Given the description of an element on the screen output the (x, y) to click on. 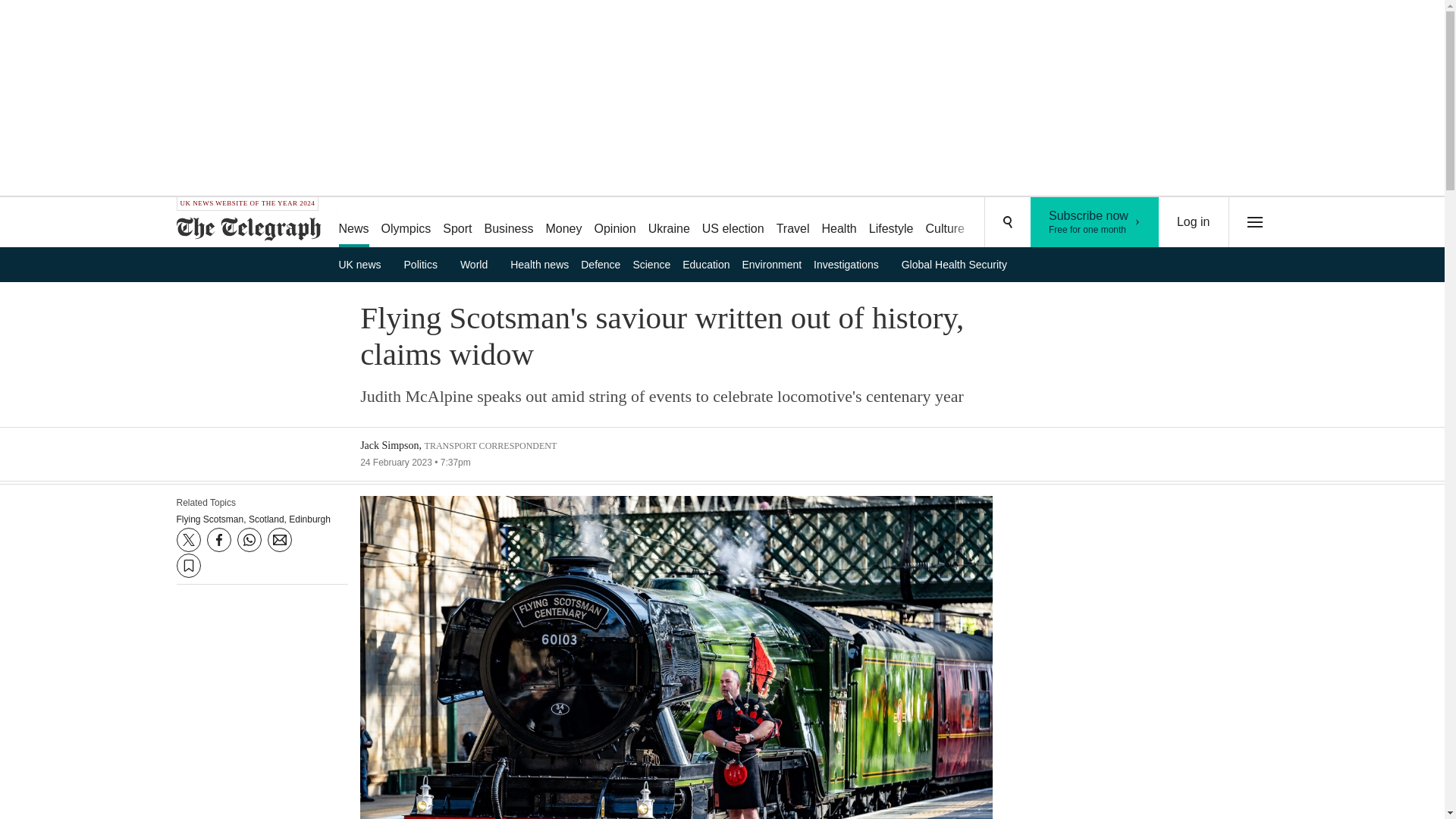
Politics (425, 264)
Travel (792, 223)
Podcasts (1056, 223)
Log in (1193, 222)
Ukraine (668, 223)
World (478, 264)
Business (509, 223)
UK news (364, 264)
Lifestyle (891, 223)
Opinion (615, 223)
Health (838, 223)
Puzzles (998, 223)
Olympics (406, 223)
US election (1094, 222)
